Given the description of an element on the screen output the (x, y) to click on. 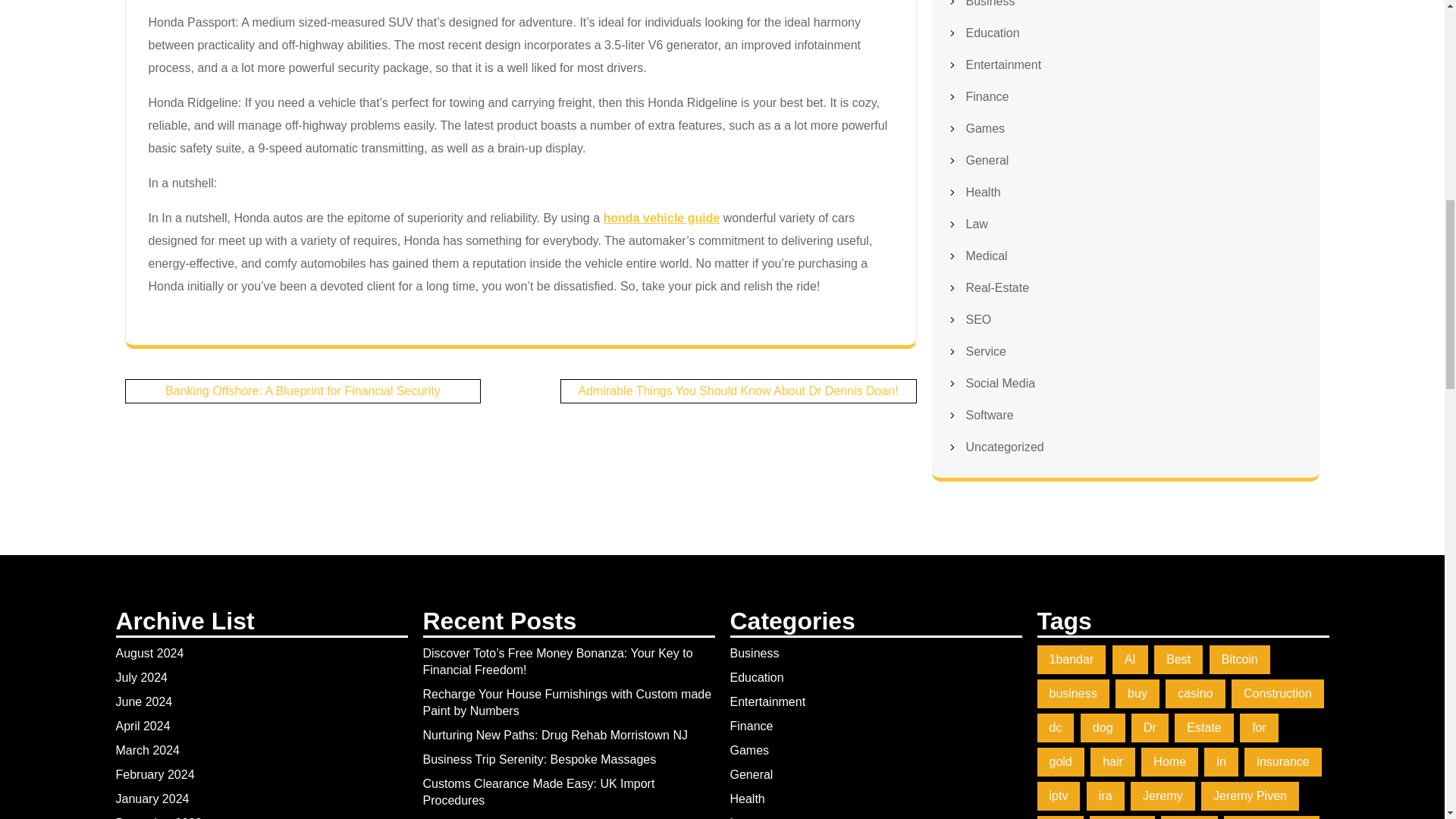
Health (983, 192)
Games (986, 128)
Business (990, 3)
Law (977, 223)
Social Media (1000, 382)
SEO (978, 318)
Admirable Things You Should Know About Dr Dennis Doan! (738, 390)
Medical (986, 255)
Entertainment (1004, 64)
General (987, 160)
